Given the description of an element on the screen output the (x, y) to click on. 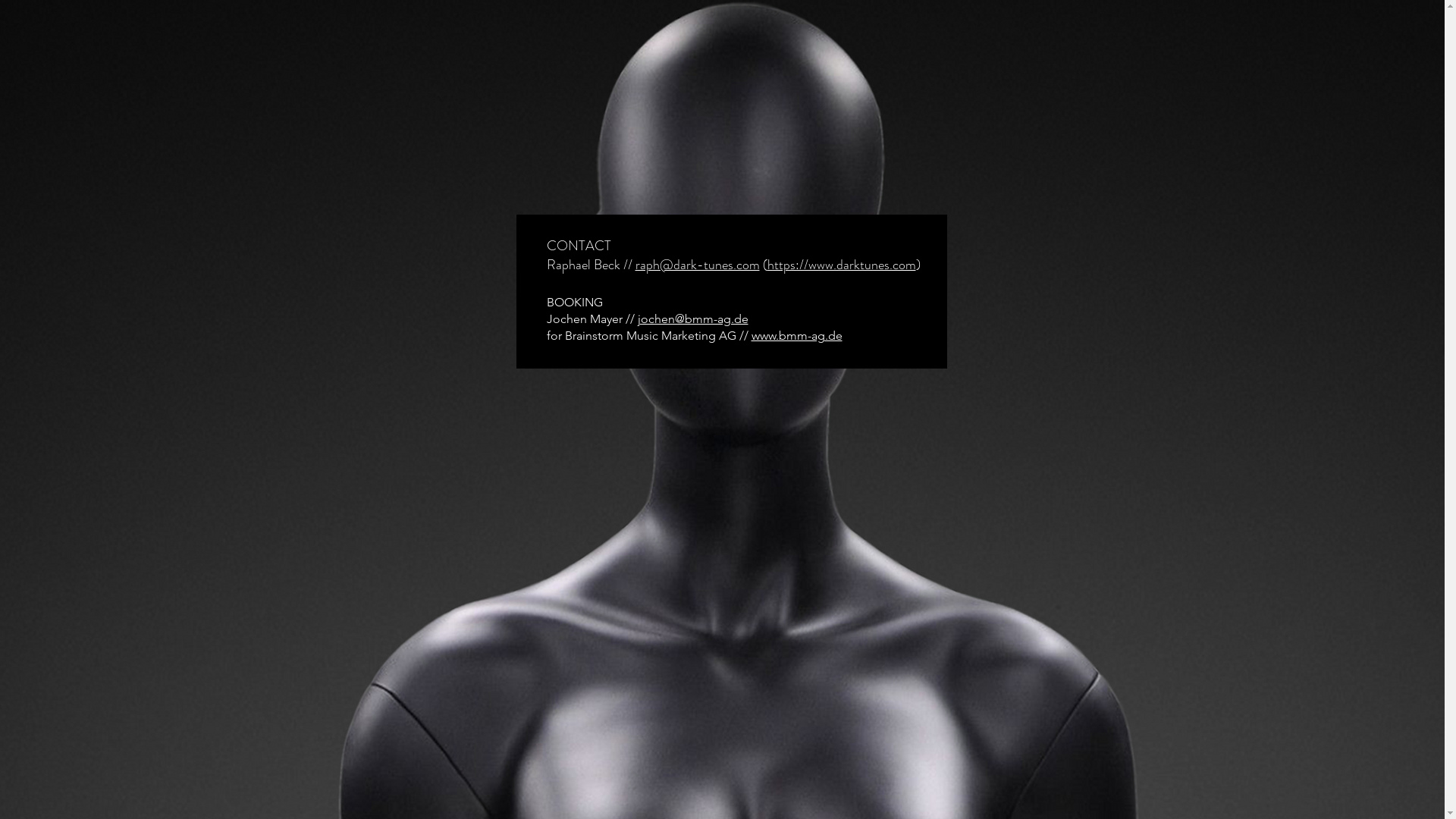
www.bmm-ag.de Element type: text (795, 335)
jochen@bmm-ag.de Element type: text (692, 318)
https://www.darktunes.com Element type: text (841, 264)
raph@dark-tunes.com Element type: text (697, 264)
